Given the description of an element on the screen output the (x, y) to click on. 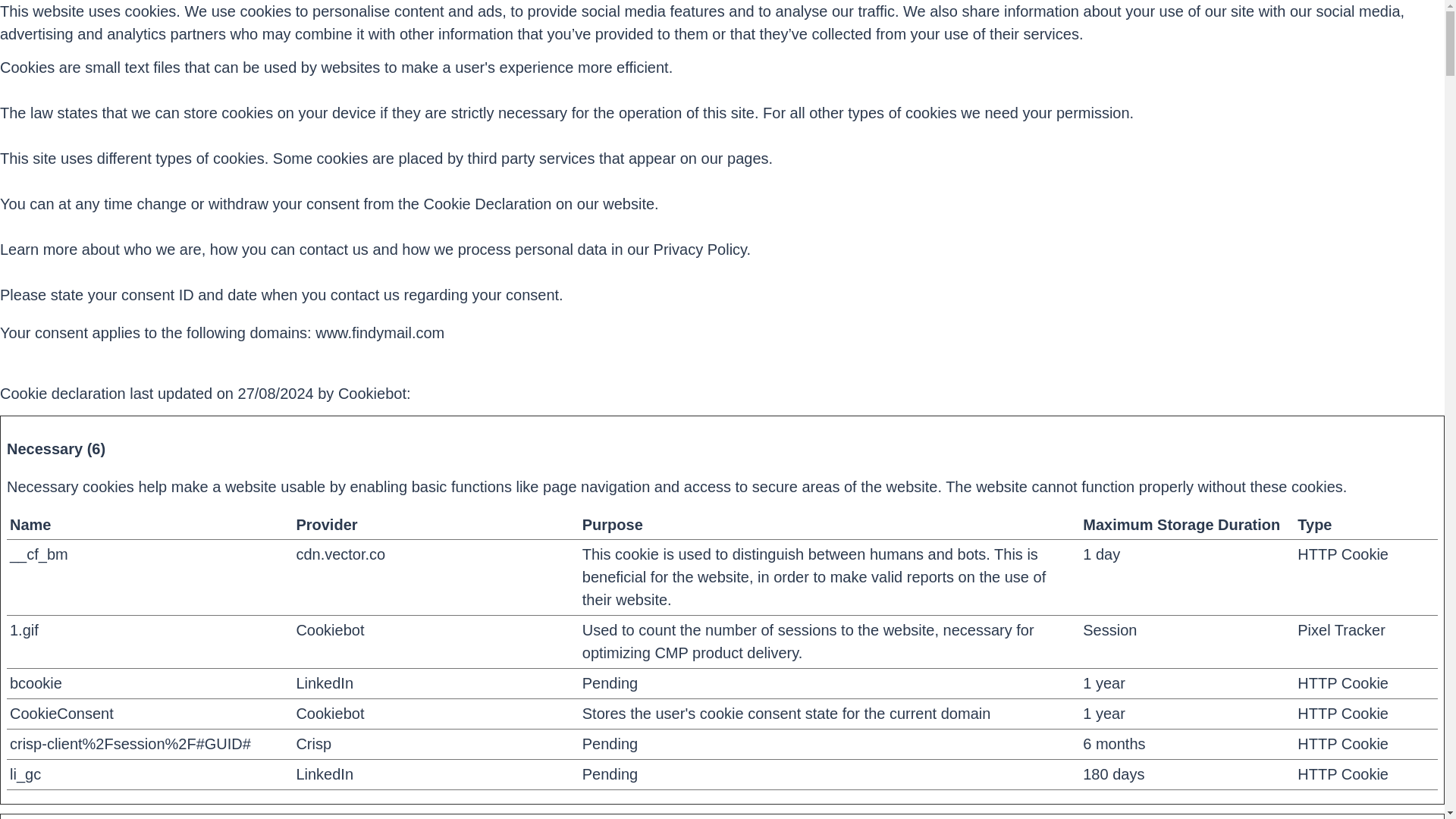
Crisp's privacy policy (313, 743)
Crisp (313, 743)
LinkedIn's privacy policy (324, 682)
Cookiebot (371, 393)
Cookiebot (329, 713)
Cookiebot (371, 393)
Cookiebot's privacy policy (329, 629)
LinkedIn (324, 773)
LinkedIn (324, 682)
LinkedIn's privacy policy (324, 773)
